Given the description of an element on the screen output the (x, y) to click on. 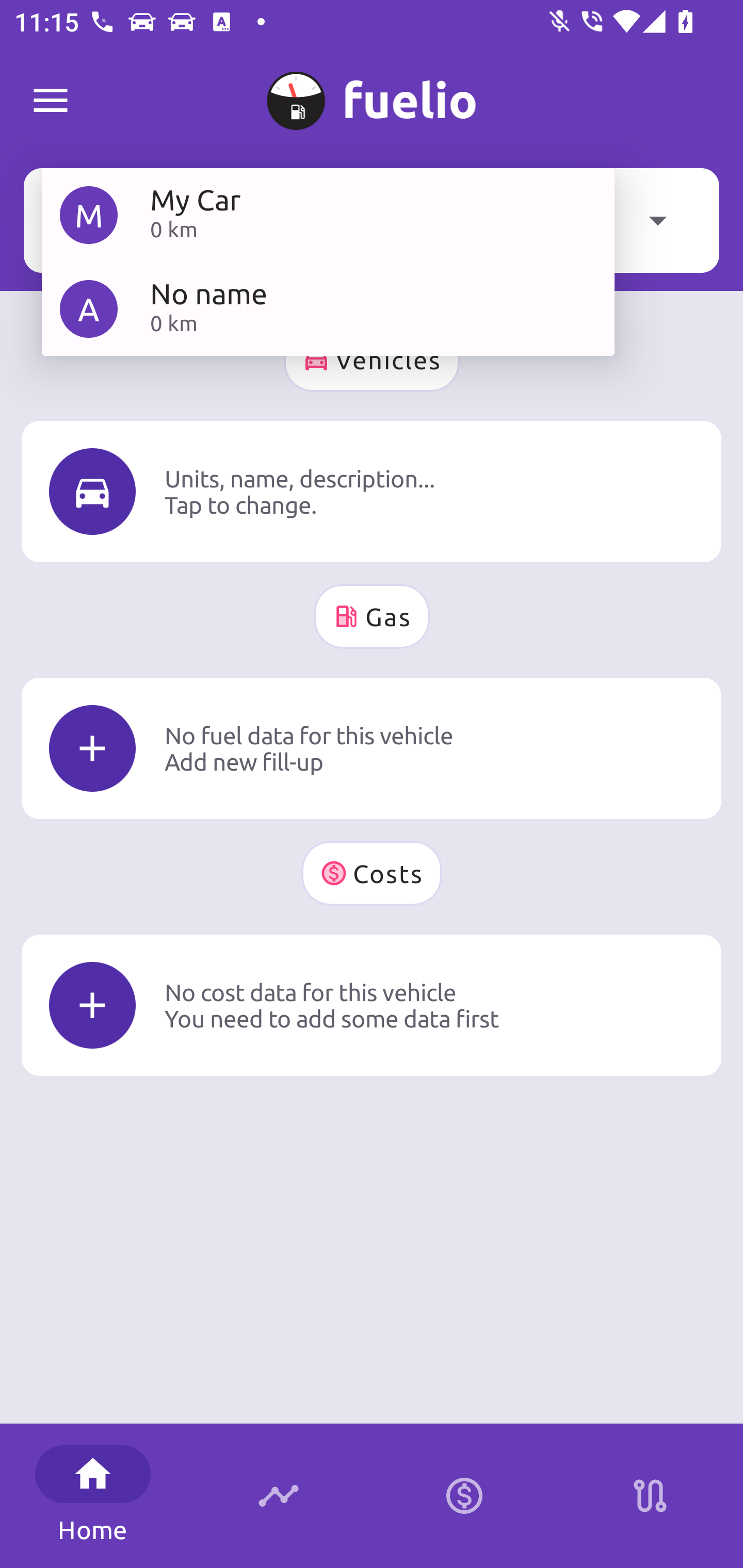
M My Car 0 km (327, 214)
A No name 0 km (327, 308)
